Given the description of an element on the screen output the (x, y) to click on. 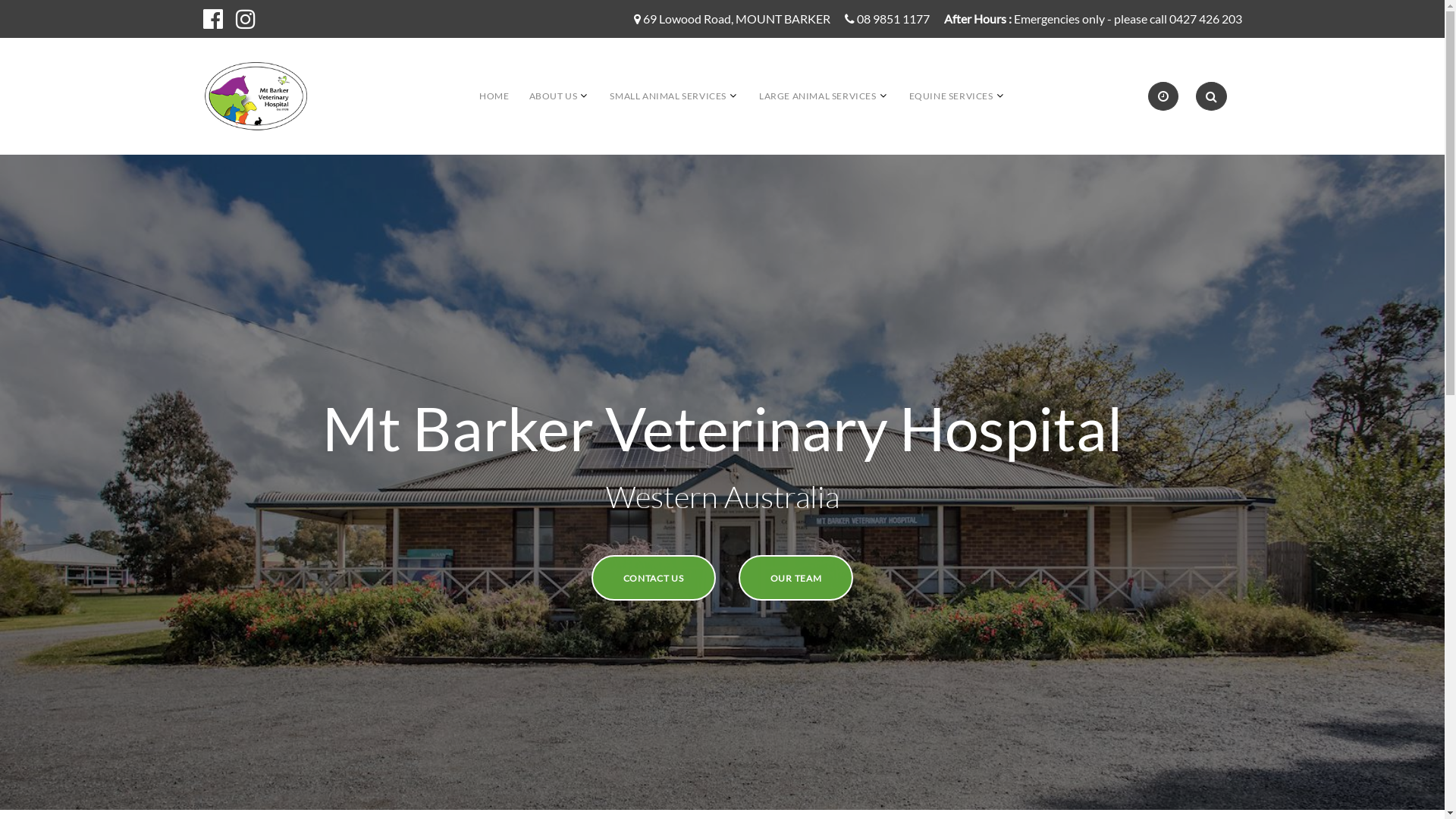
CONTACT US Element type: text (653, 577)
SMALL ANIMAL SERVICES Element type: text (667, 95)
LARGE ANIMAL SERVICES Element type: text (817, 95)
08 9851 1177 Element type: text (892, 19)
HOME Element type: text (493, 95)
ABOUT US Element type: text (553, 95)
Emergencies only - please call 0427 426 203 Element type: text (1127, 19)
OUR TEAM Element type: text (795, 577)
EQUINE SERVICES Element type: text (951, 95)
